Given the description of an element on the screen output the (x, y) to click on. 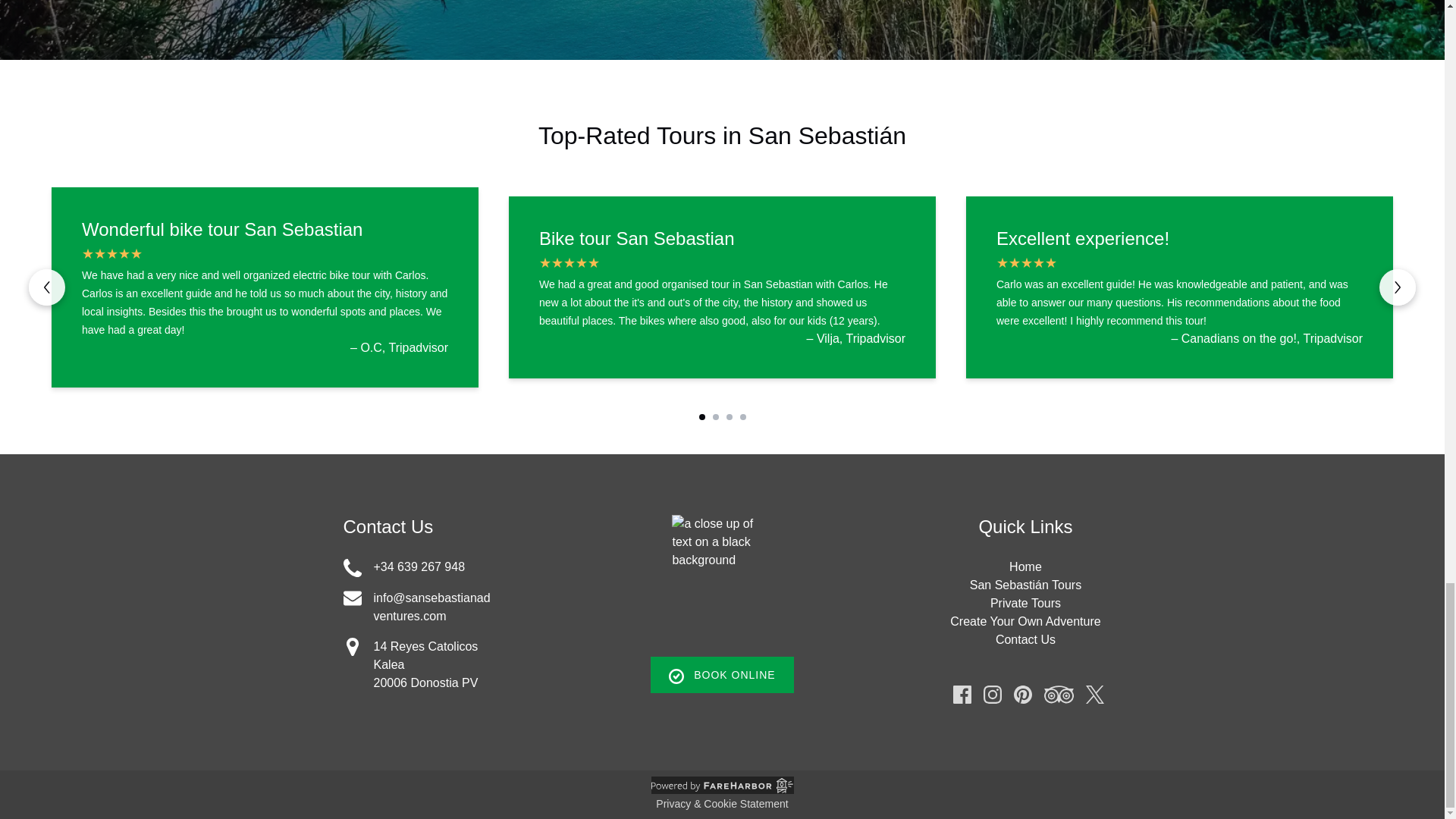
Map Marker (351, 647)
CHECKMARK (676, 676)
Envelope (351, 597)
Phone (351, 567)
